Given the description of an element on the screen output the (x, y) to click on. 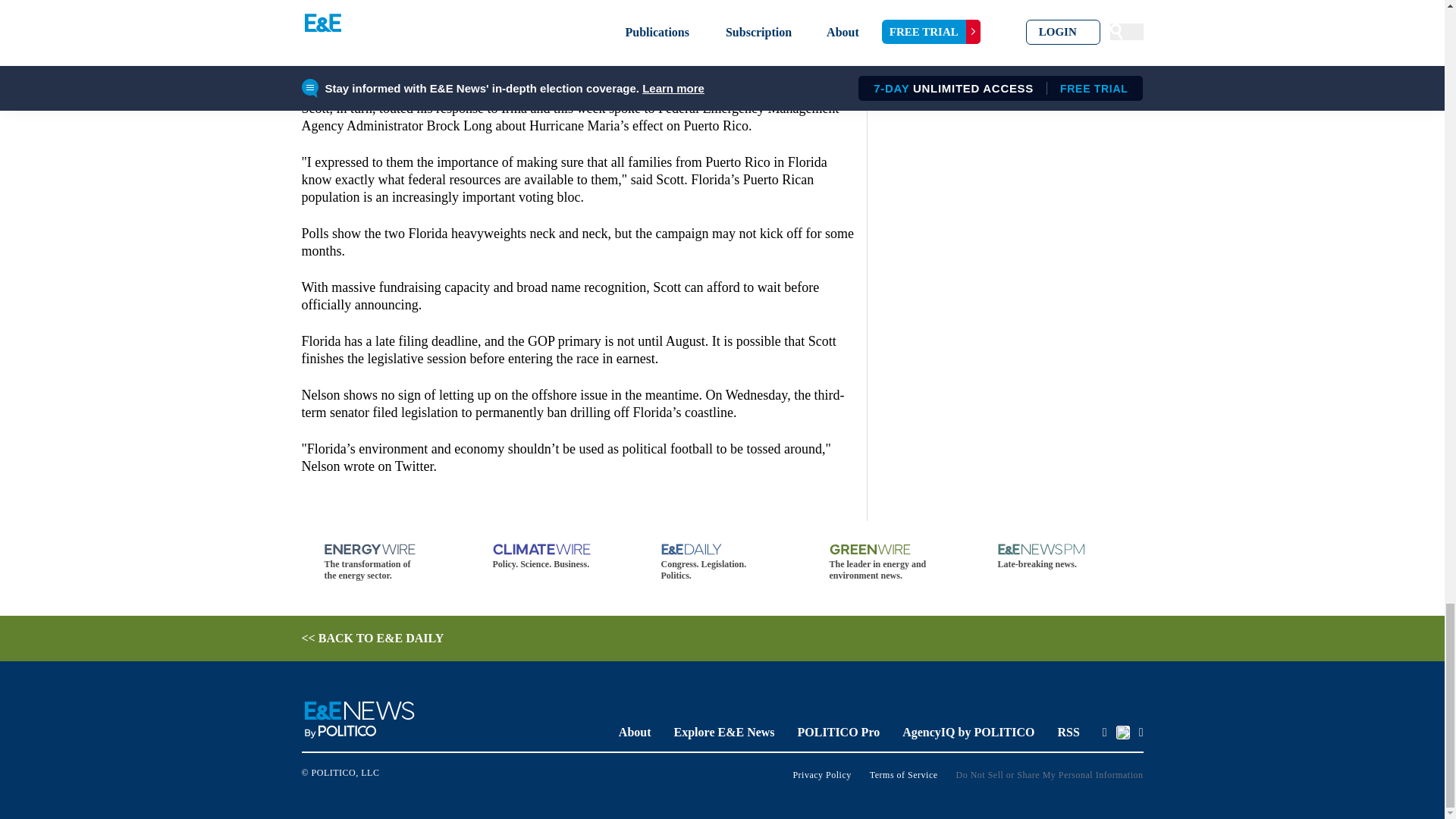
About (634, 731)
The transformation of the energy sector. (385, 562)
POLITICO Pro (838, 731)
Late-breaking news. (1058, 556)
Congress. Legislation. Politics. (722, 562)
The leader in energy and environment news. (890, 562)
Policy. Science. Business. (554, 556)
